Given the description of an element on the screen output the (x, y) to click on. 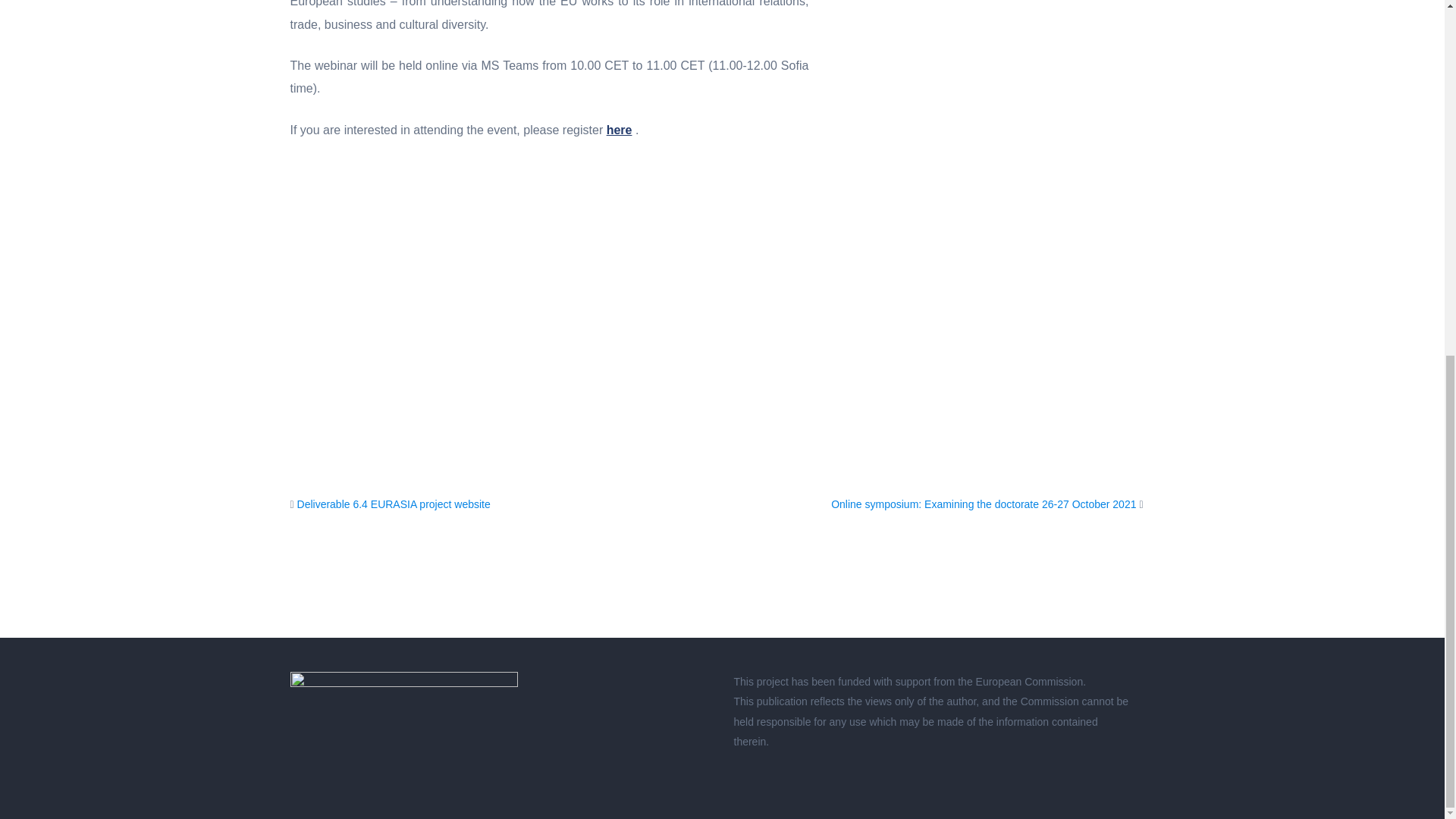
Online symposium: Examining the doctorate 26-27 October 2021 (983, 503)
here (619, 129)
Deliverable 6.4 EURASIA project website (393, 503)
